Given the description of an element on the screen output the (x, y) to click on. 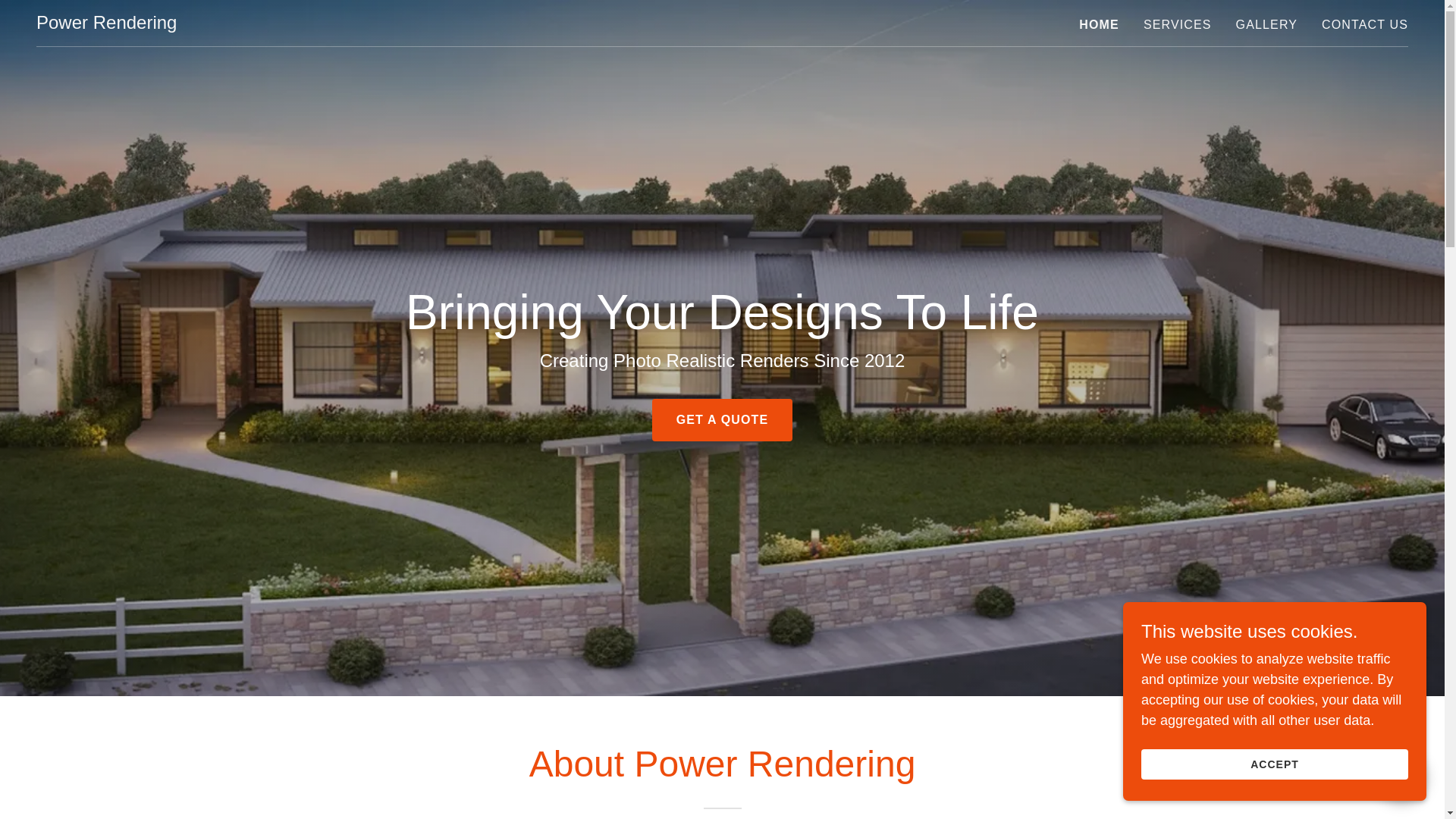
CONTACT US (1364, 24)
Power Rendering (106, 23)
Power Rendering (106, 23)
GET A QUOTE (722, 419)
ACCEPT (1274, 764)
GALLERY (1266, 24)
SERVICES (1176, 24)
HOME (1098, 24)
